Given the description of an element on the screen output the (x, y) to click on. 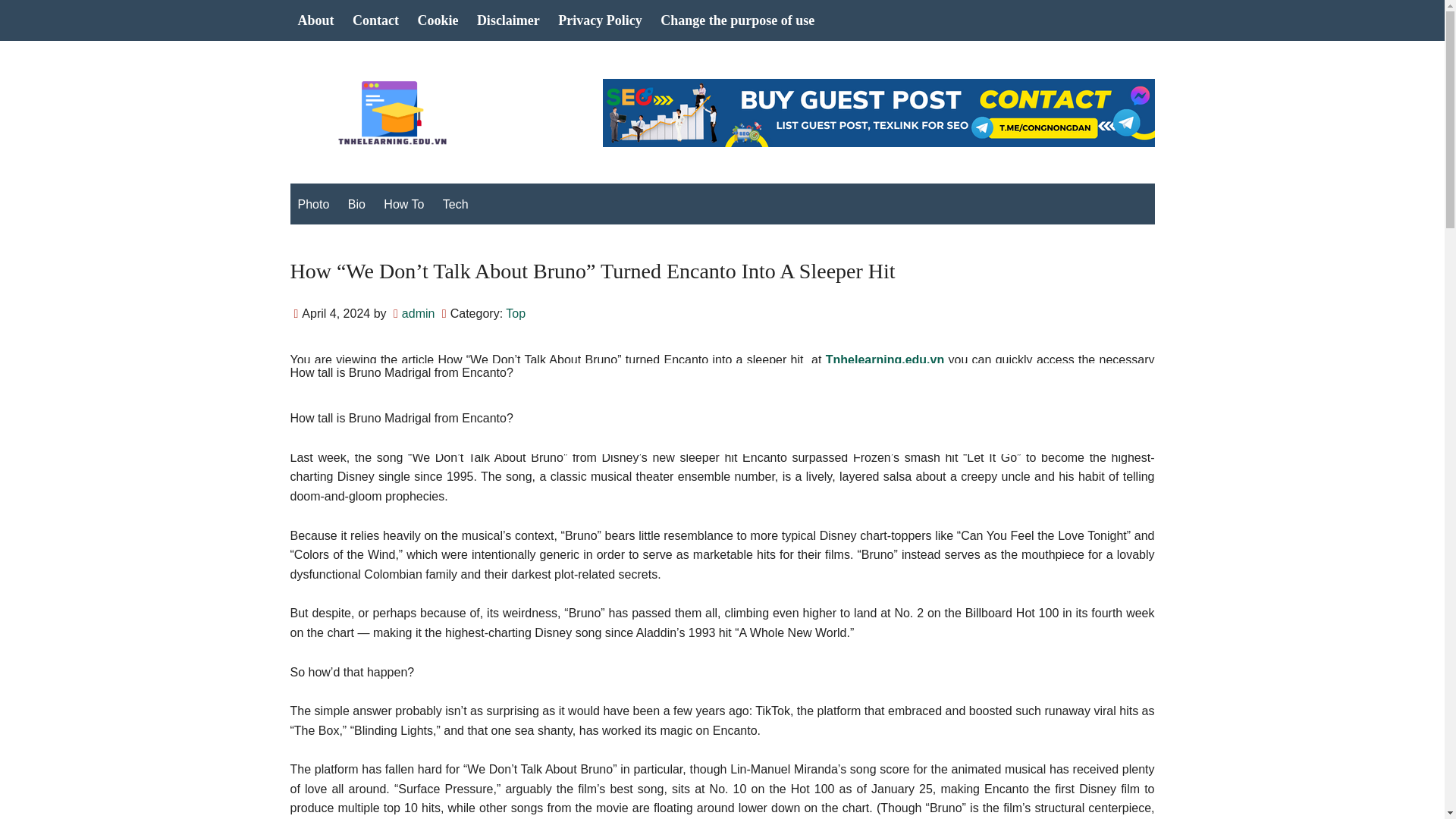
admin (418, 313)
About (314, 20)
Privacy Policy (599, 20)
Photo (312, 204)
Change the purpose of use (737, 20)
Contact (375, 20)
Cookie (437, 20)
Disclaimer (507, 20)
Tnhelearning.edu.vn (884, 359)
Tech (455, 204)
Top (515, 313)
How To (402, 204)
